Given the description of an element on the screen output the (x, y) to click on. 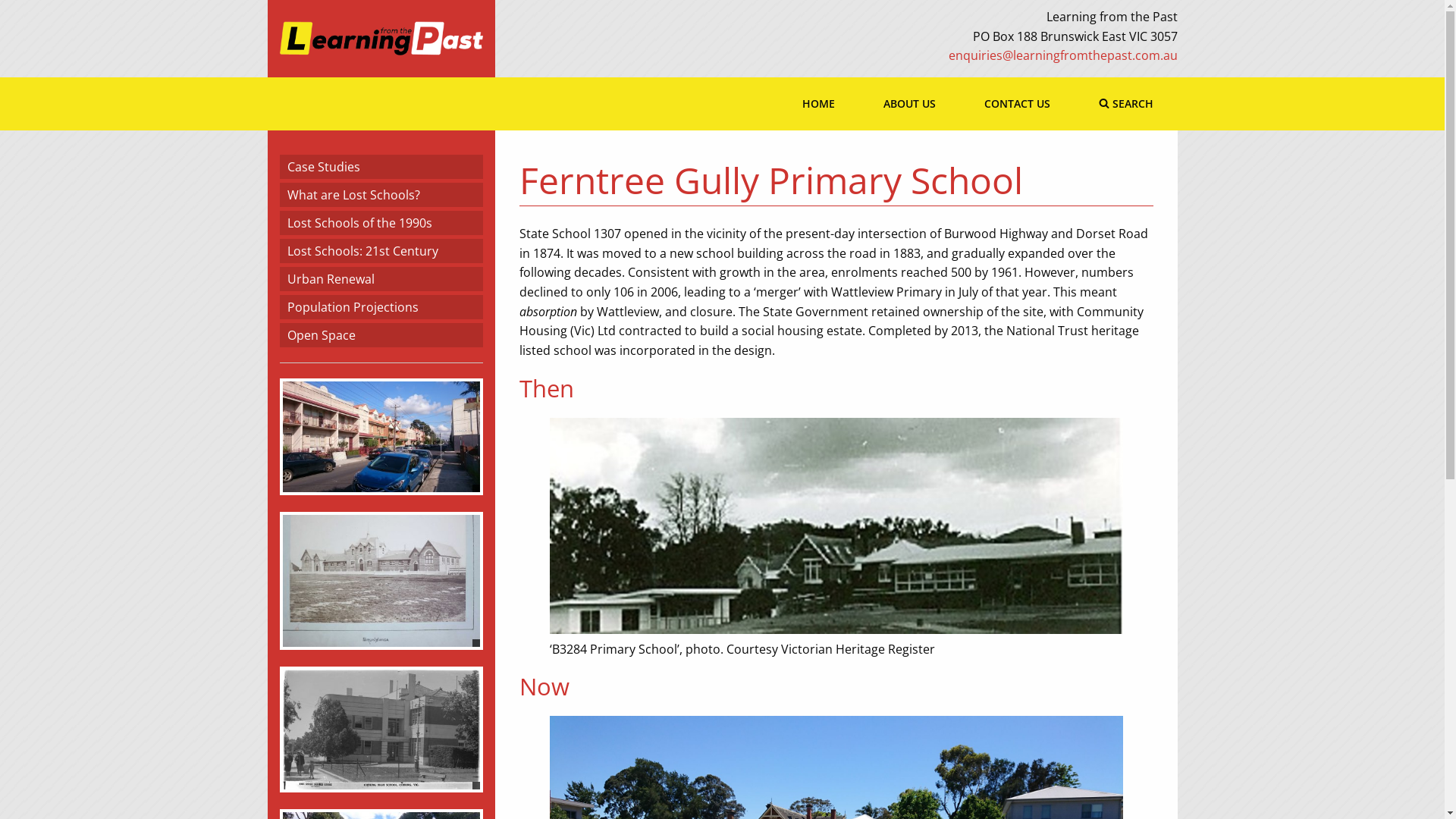
Case Studies Element type: text (380, 166)
HOME Element type: text (818, 103)
CONTACT US Element type: text (1017, 103)
ABOUT US Element type: text (908, 103)
Lost Schools: 21st Century Element type: text (380, 250)
What are Lost Schools? Element type: text (380, 194)
Open Space Element type: text (380, 335)
Urban Renewal Element type: text (380, 278)
Lost Schools of the 1990s Element type: text (380, 222)
SEARCH Element type: text (1124, 103)
Population Projections Element type: text (380, 306)
